Given the description of an element on the screen output the (x, y) to click on. 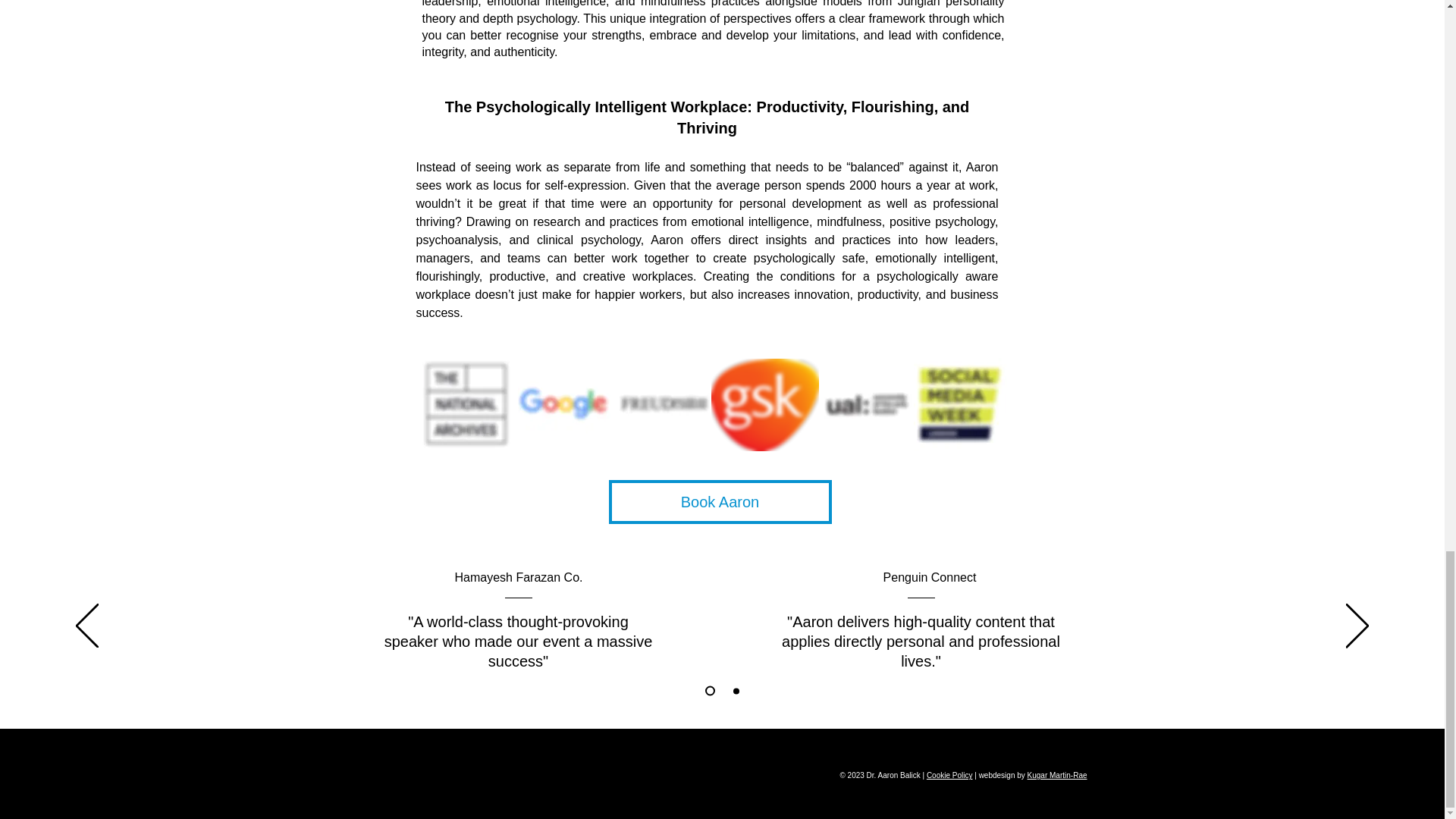
Cookie Policy (949, 775)
Kugar Martin-Rae (1057, 775)
Book Aaron (719, 501)
